Given the description of an element on the screen output the (x, y) to click on. 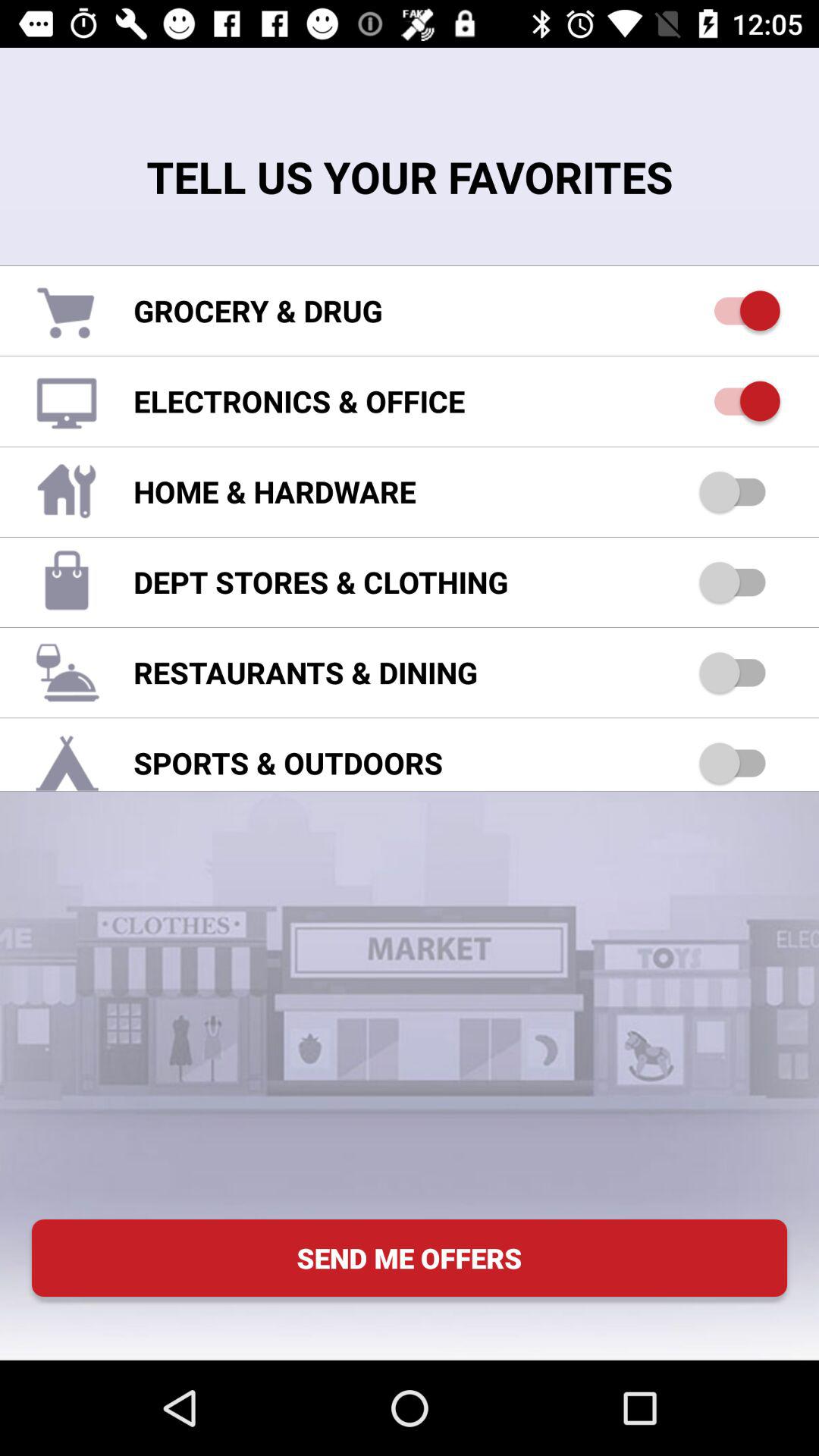
toggle sports and outdoors (739, 762)
